Given the description of an element on the screen output the (x, y) to click on. 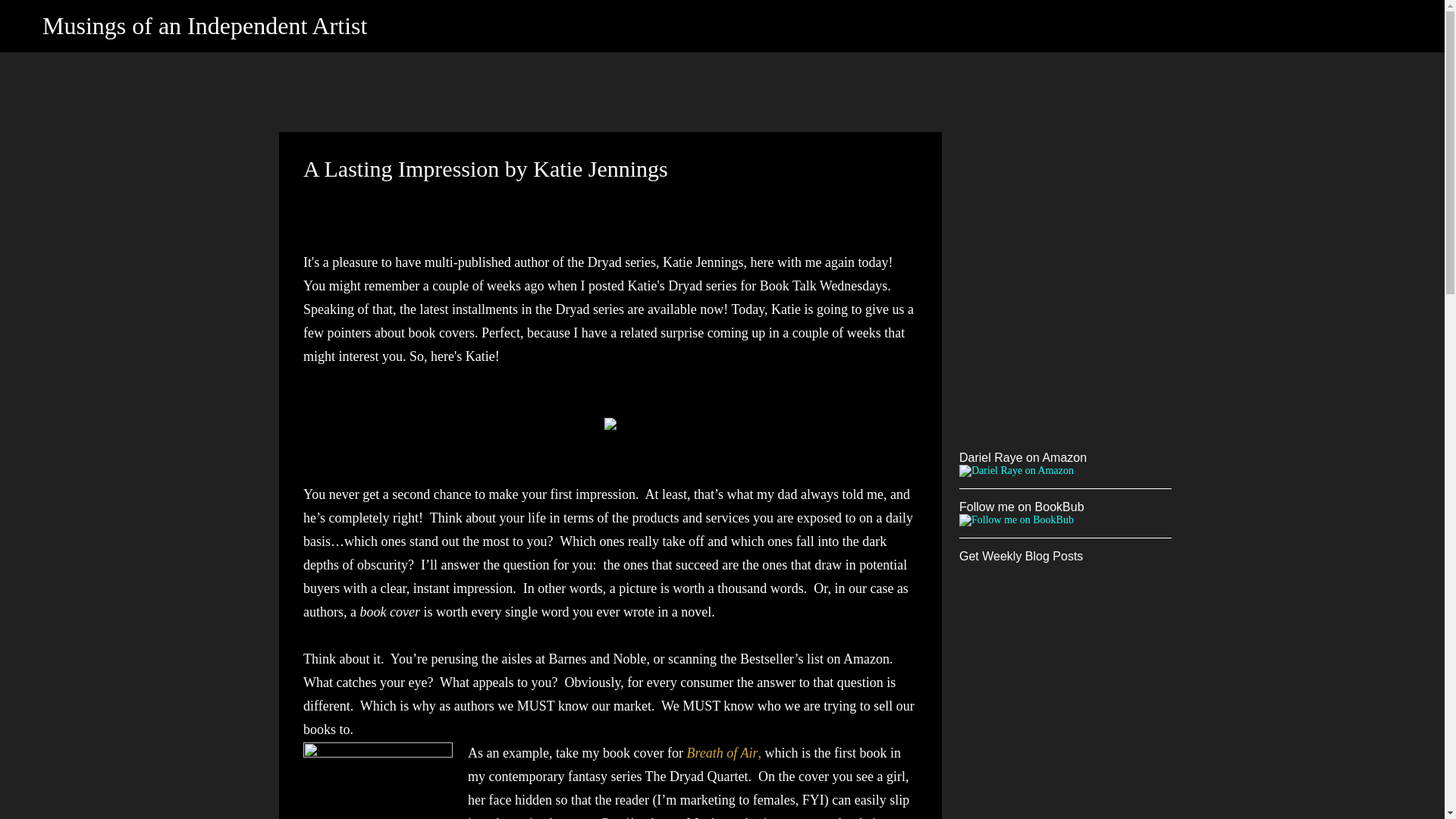
Musings of an Independent Artist (204, 25)
Breath of Air, (723, 752)
